Given the description of an element on the screen output the (x, y) to click on. 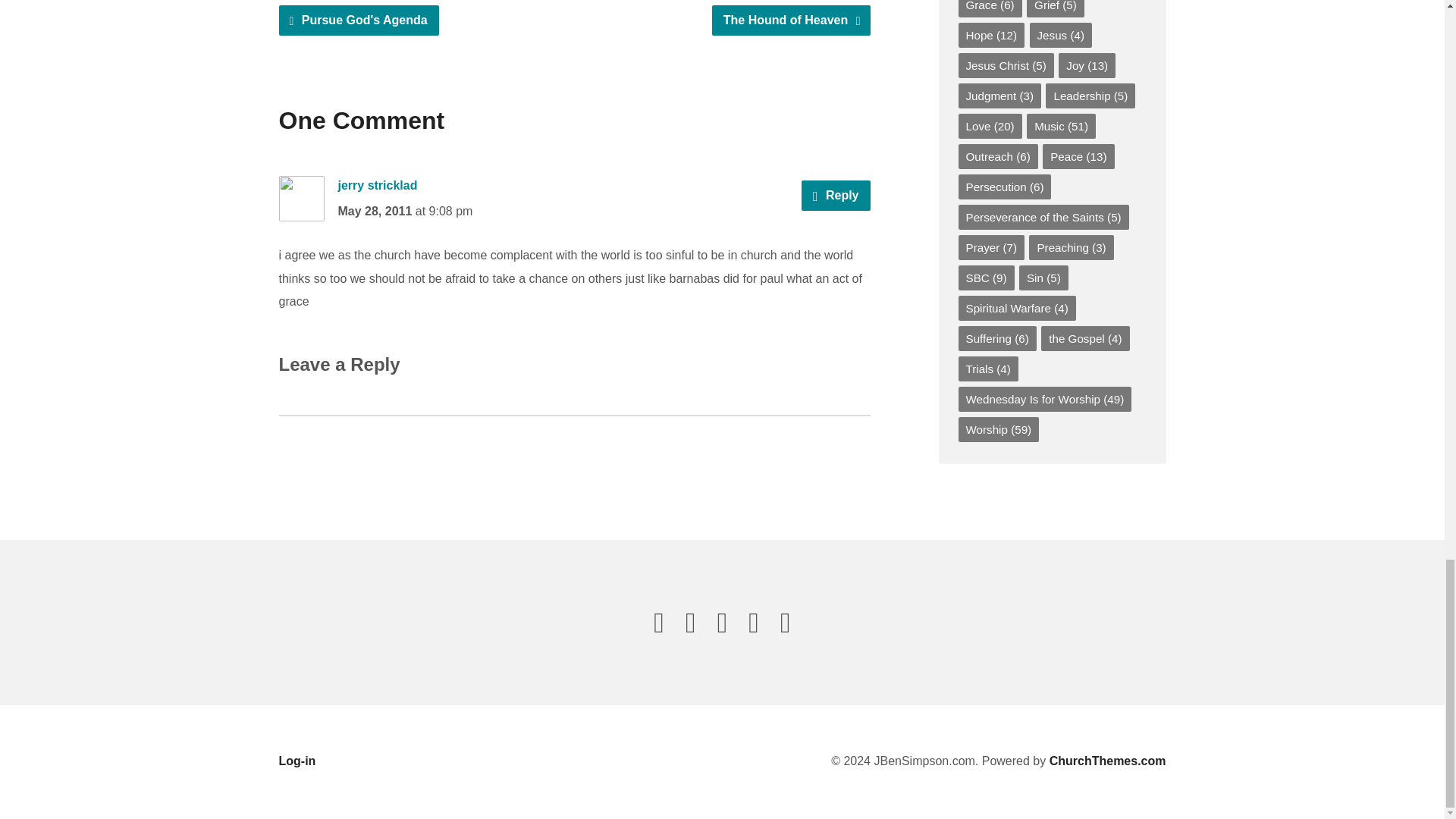
jerry stricklad (377, 185)
Pursue God's Agenda (359, 20)
Reply (835, 195)
May 28, 2011 at 9:08 pm (405, 210)
The Hound of Heaven (790, 20)
